Given the description of an element on the screen output the (x, y) to click on. 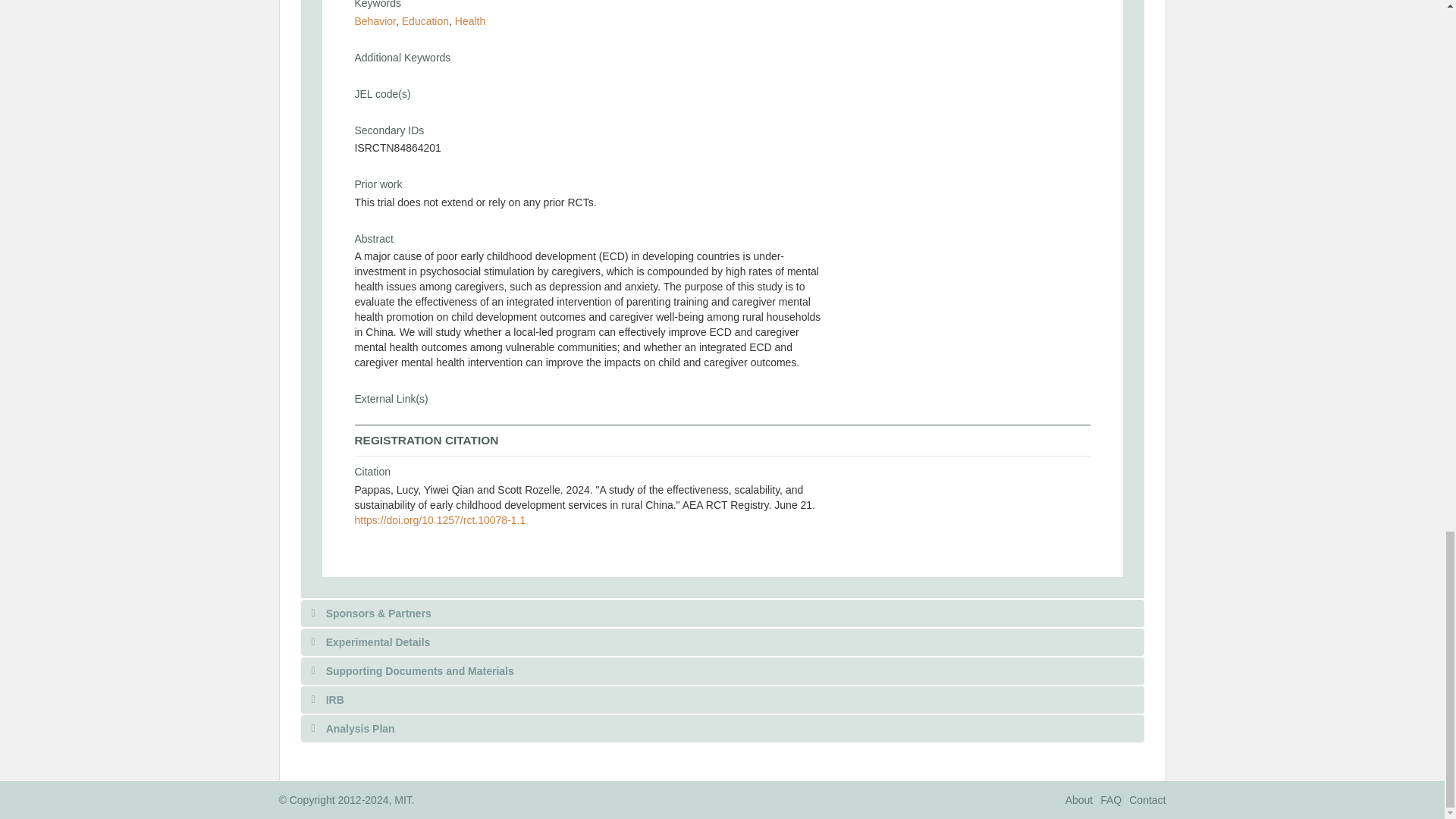
Health (469, 21)
Contact (1147, 799)
IRB (720, 698)
Education (424, 21)
FAQ (1110, 799)
Analysis Plan (720, 728)
Supporting Documents and Materials (720, 669)
About (1079, 799)
Experimental Details (720, 641)
Behavior (375, 21)
